Given the description of an element on the screen output the (x, y) to click on. 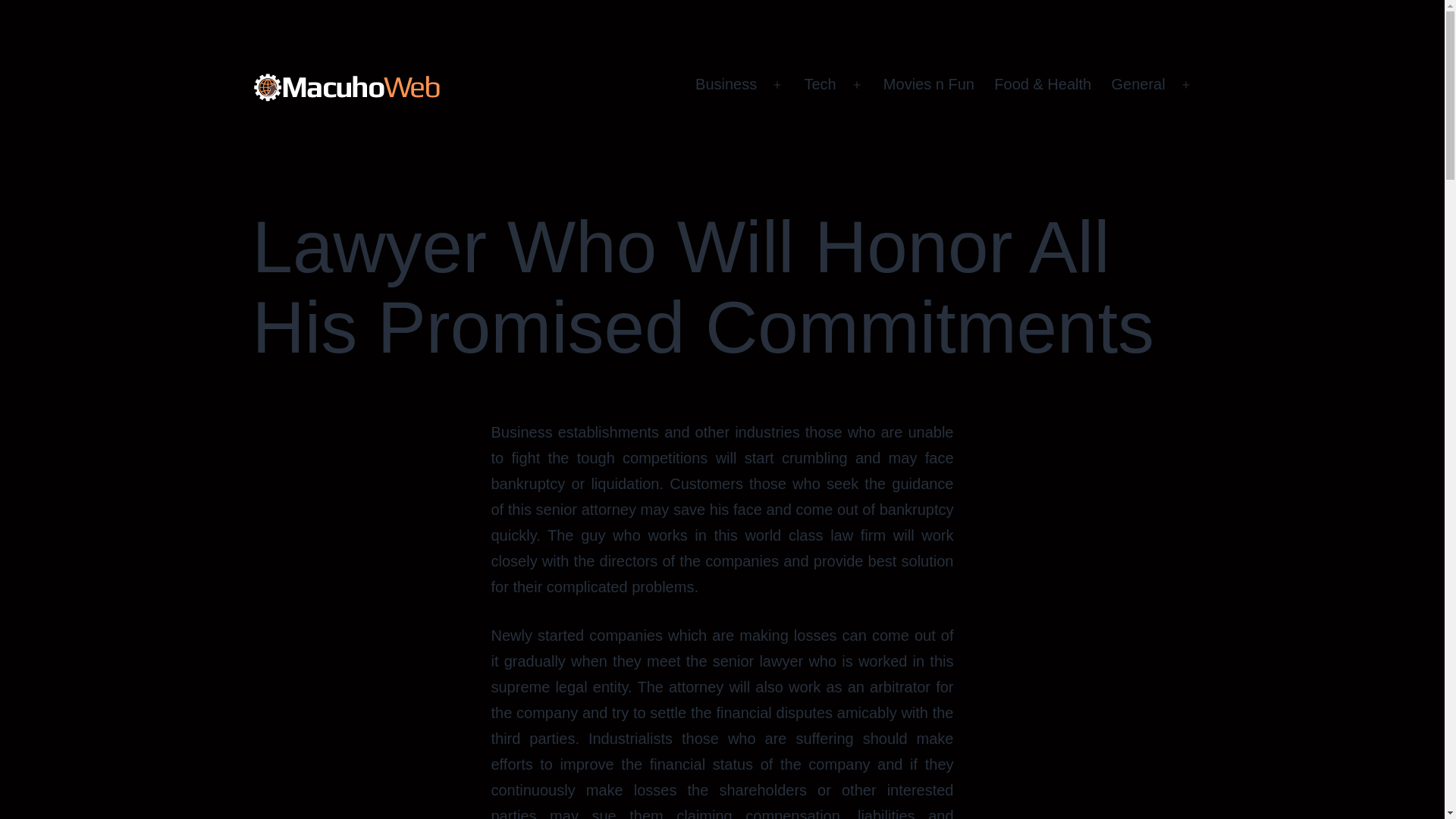
Tech (819, 85)
Movies n Fun (928, 85)
Business (726, 85)
General (1137, 85)
